Given the description of an element on the screen output the (x, y) to click on. 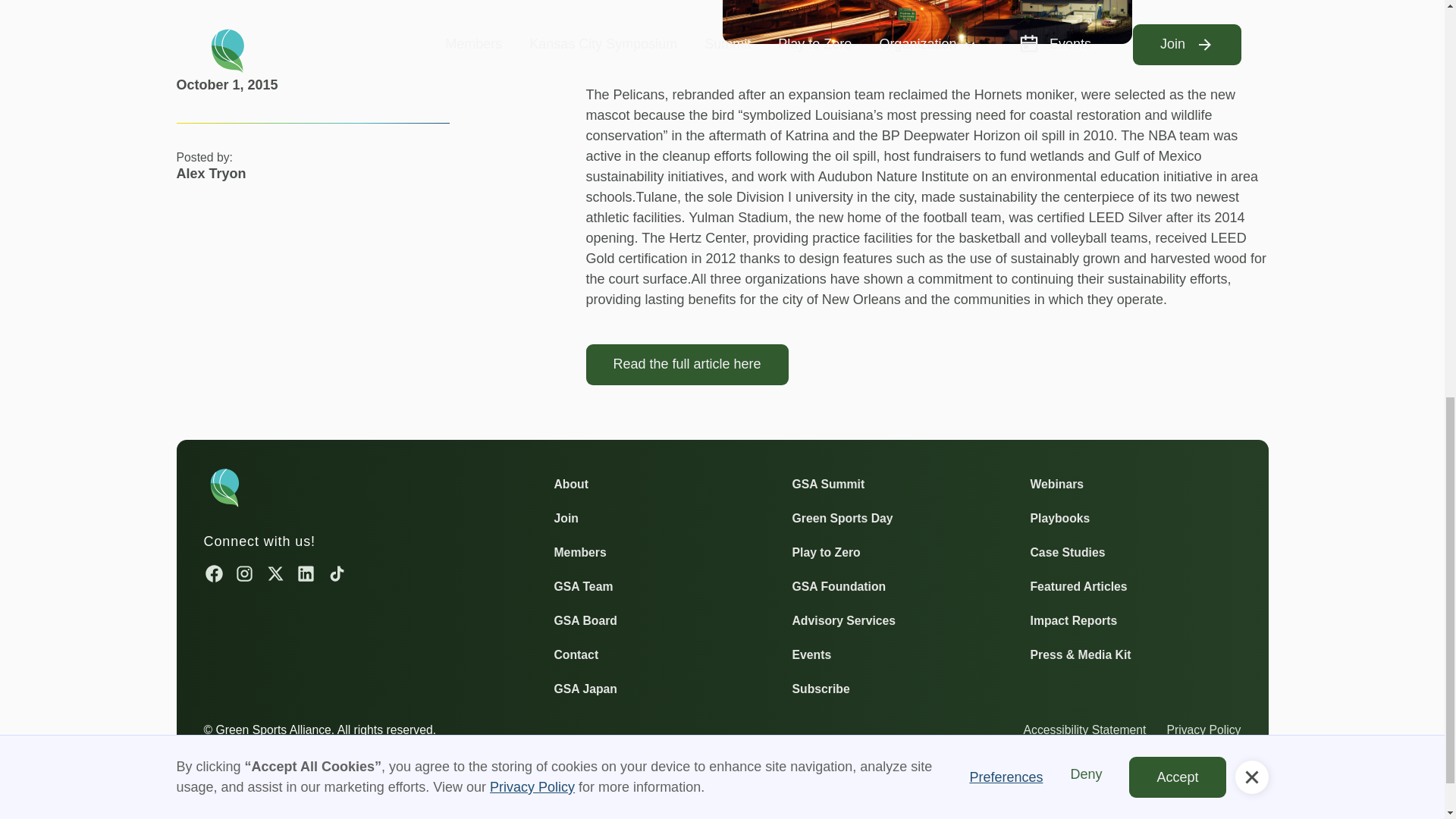
Read the full article here (686, 363)
Members (579, 552)
Join (565, 517)
GSA Team (582, 586)
About (570, 484)
